Given the description of an element on the screen output the (x, y) to click on. 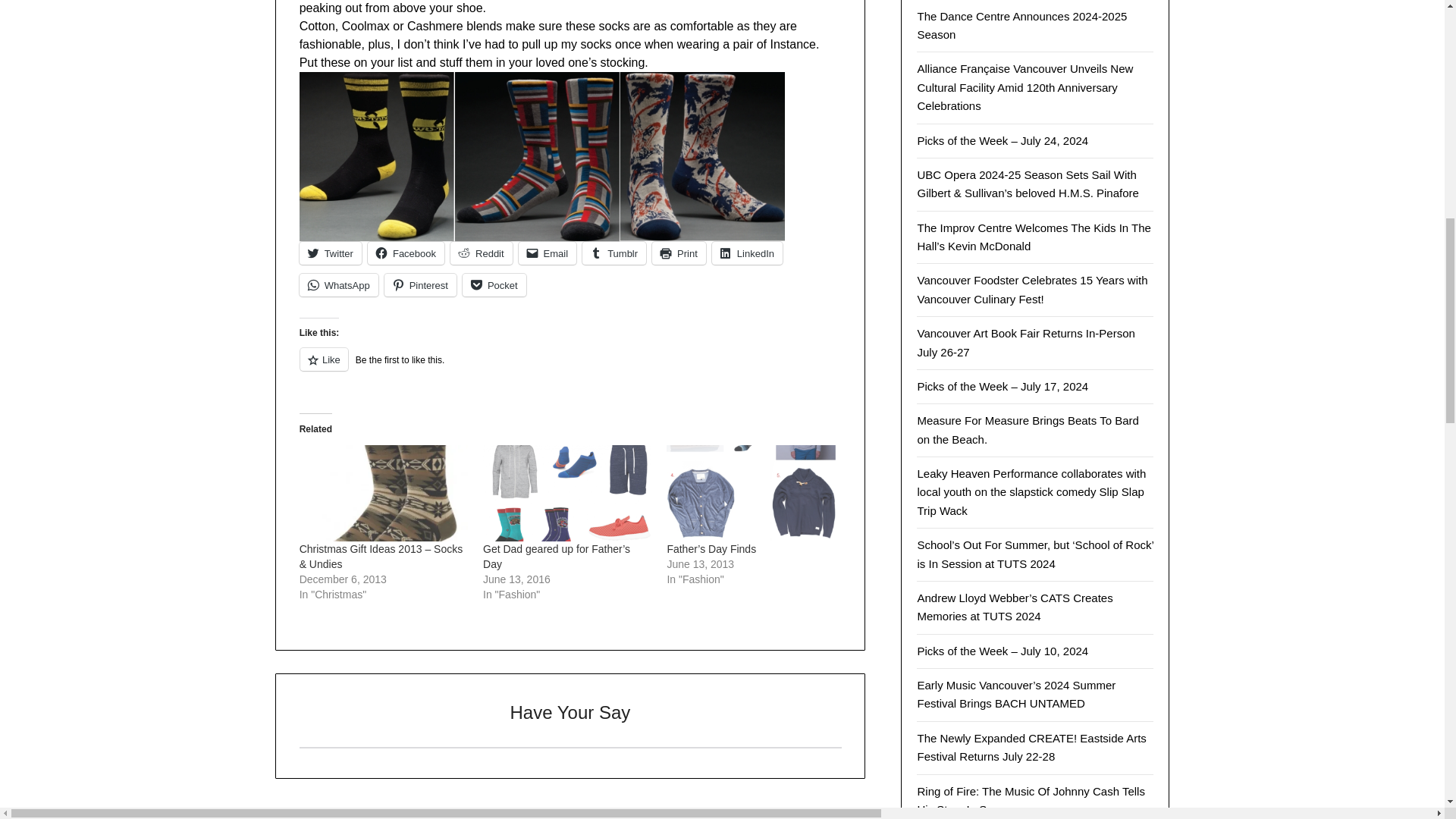
Email (547, 252)
Click to share on LinkedIn (747, 252)
Click to share on Tumblr (614, 252)
Twitter (330, 252)
WhatsApp (338, 284)
Click to share on Twitter (330, 252)
Print (679, 252)
Click to share on Pinterest (420, 284)
Click to share on Facebook (406, 252)
Click to share on Reddit (480, 252)
Pocket (494, 284)
Click to email a link to a friend (547, 252)
Pinterest (420, 284)
Click to share on WhatsApp (338, 284)
Like or Reblog (570, 368)
